Given the description of an element on the screen output the (x, y) to click on. 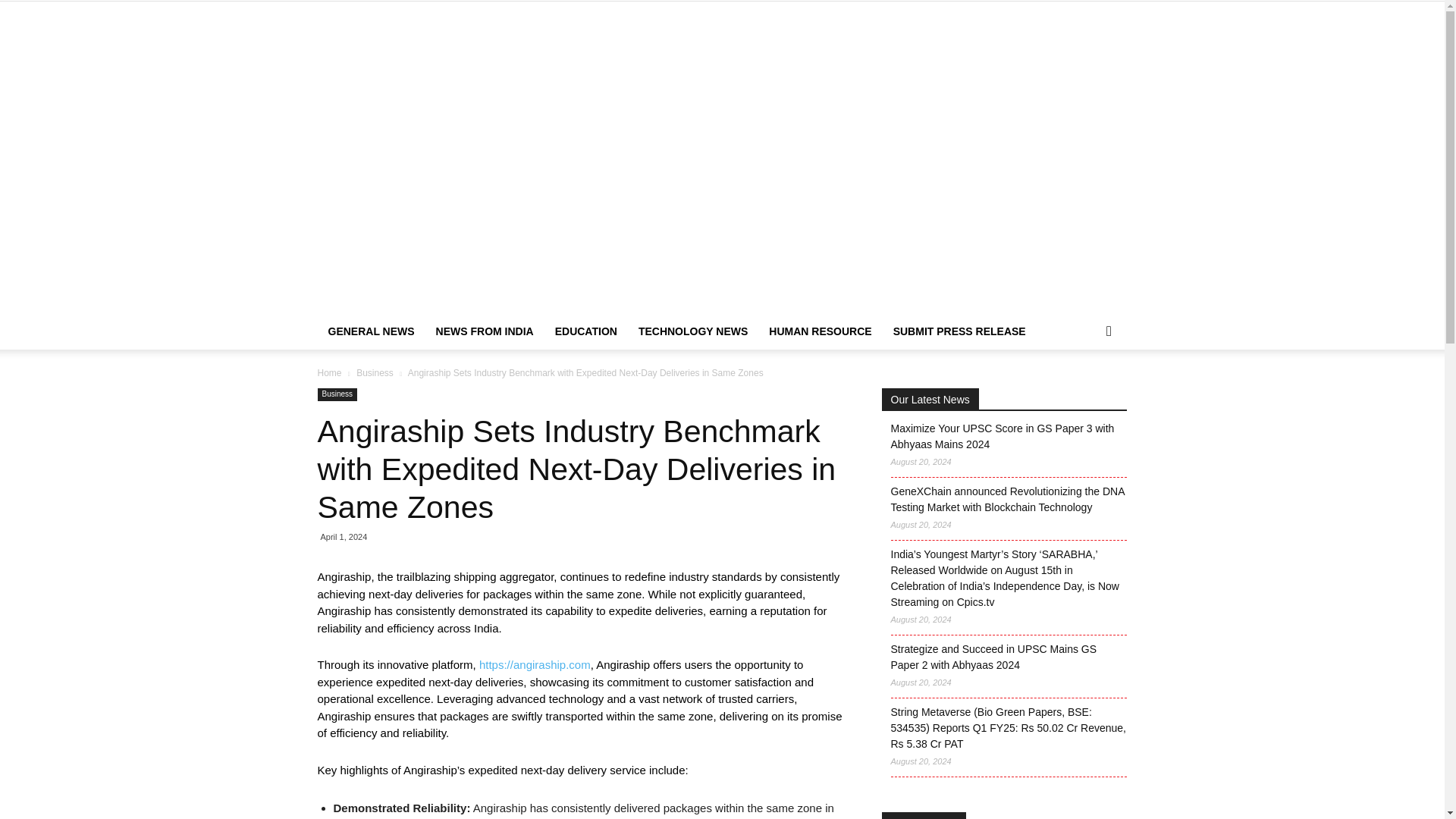
TECHNOLOGY NEWS (692, 330)
GENERAL NEWS (371, 330)
SUBMIT PRESS RELEASE (959, 330)
Search (1080, 416)
View all posts in Business (374, 372)
Business (374, 372)
Home (328, 372)
Business (336, 394)
HUMAN RESOURCE (820, 330)
EDUCATION (585, 330)
